Given the description of an element on the screen output the (x, y) to click on. 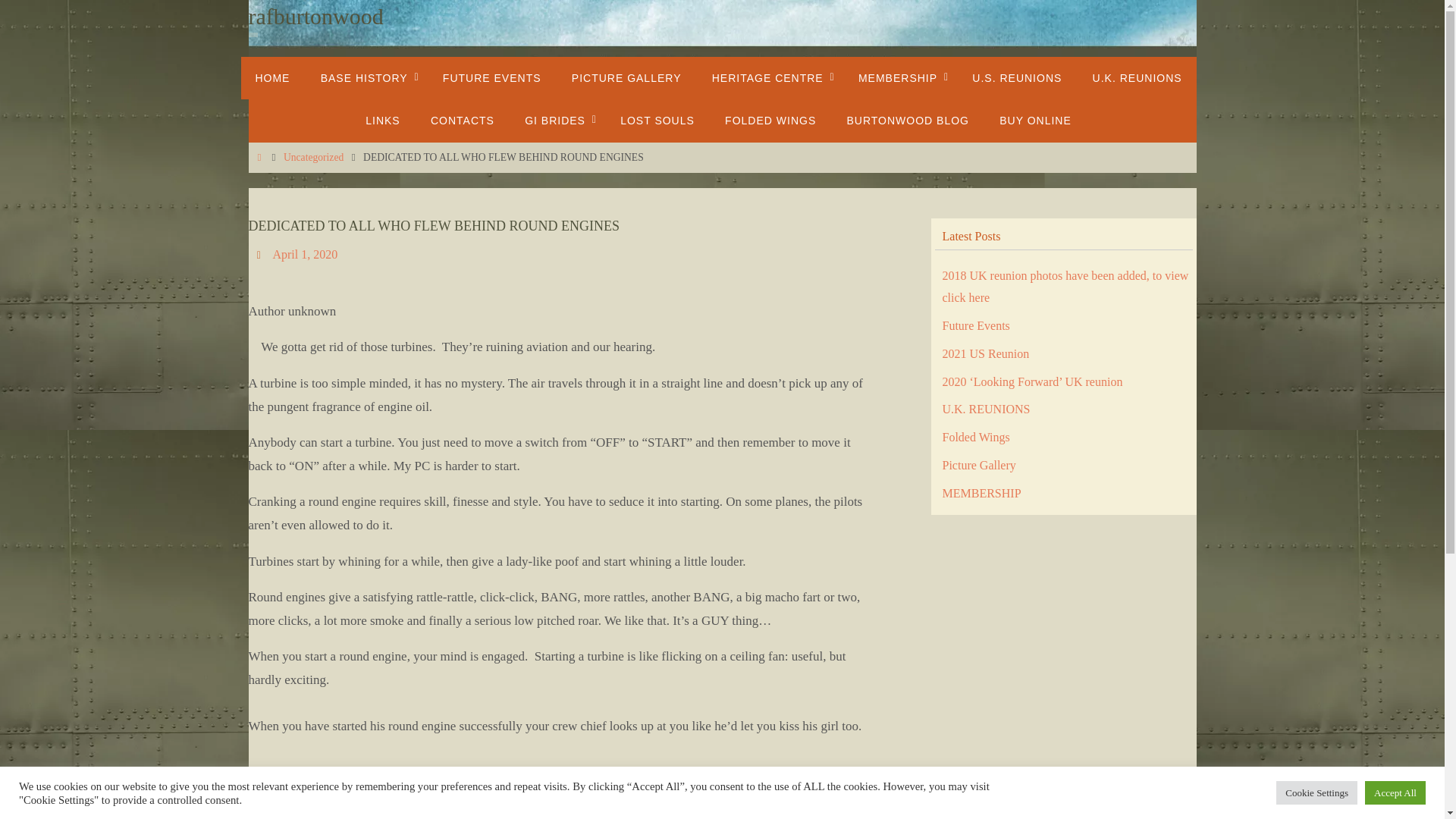
MEMBERSHIP (899, 77)
HERITAGE CENTRE (769, 77)
BASE HISTORY (366, 77)
HOME (271, 77)
rafburtonwood (316, 16)
rafburtonwood (316, 16)
CONTACTS (462, 120)
U.K. REUNIONS (1136, 77)
FUTURE EVENTS (491, 77)
Date (260, 254)
